Given the description of an element on the screen output the (x, y) to click on. 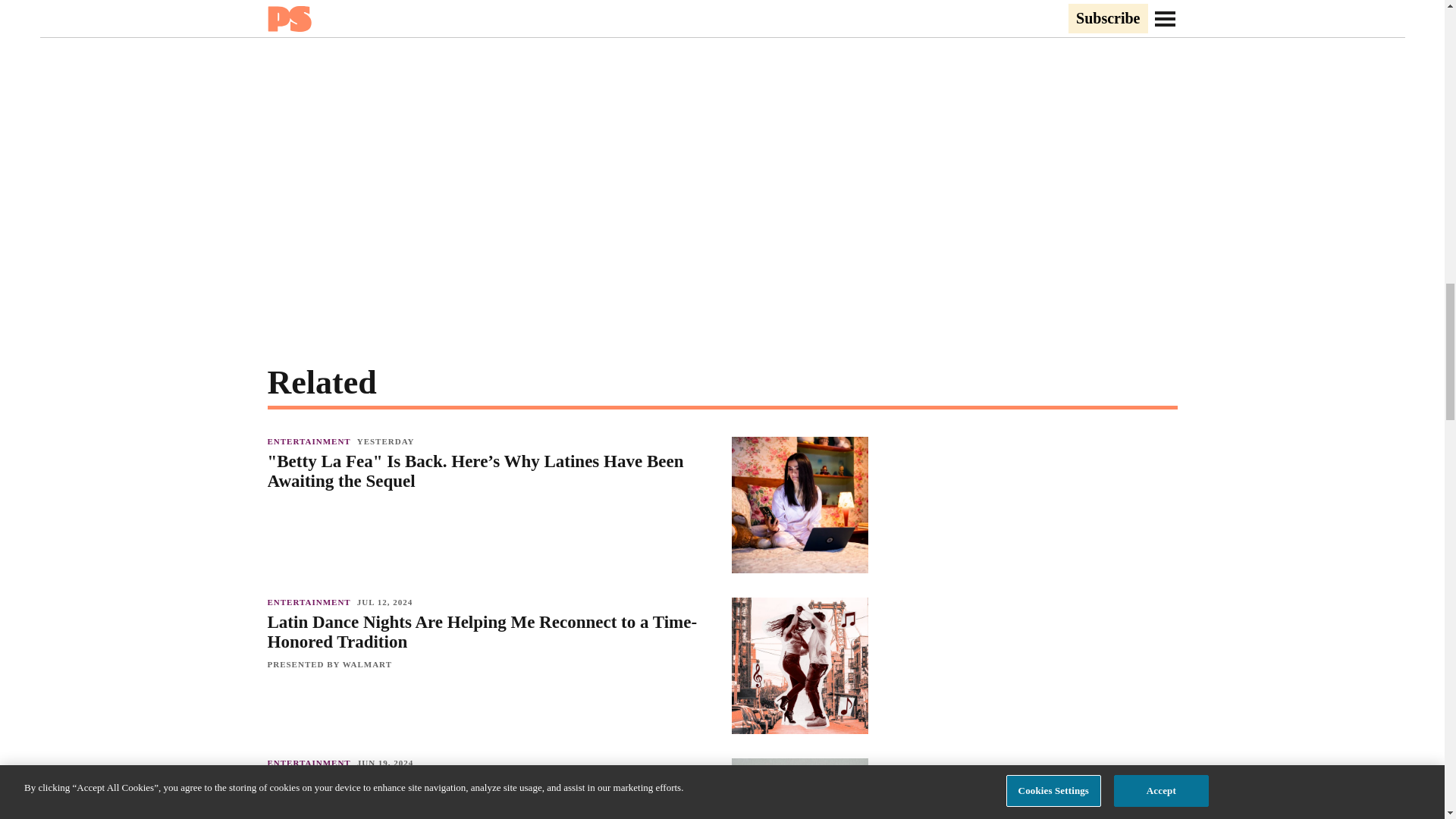
ENTERTAINMENT (311, 440)
ENTERTAINMENT (311, 762)
ENTERTAINMENT (311, 601)
